Given the description of an element on the screen output the (x, y) to click on. 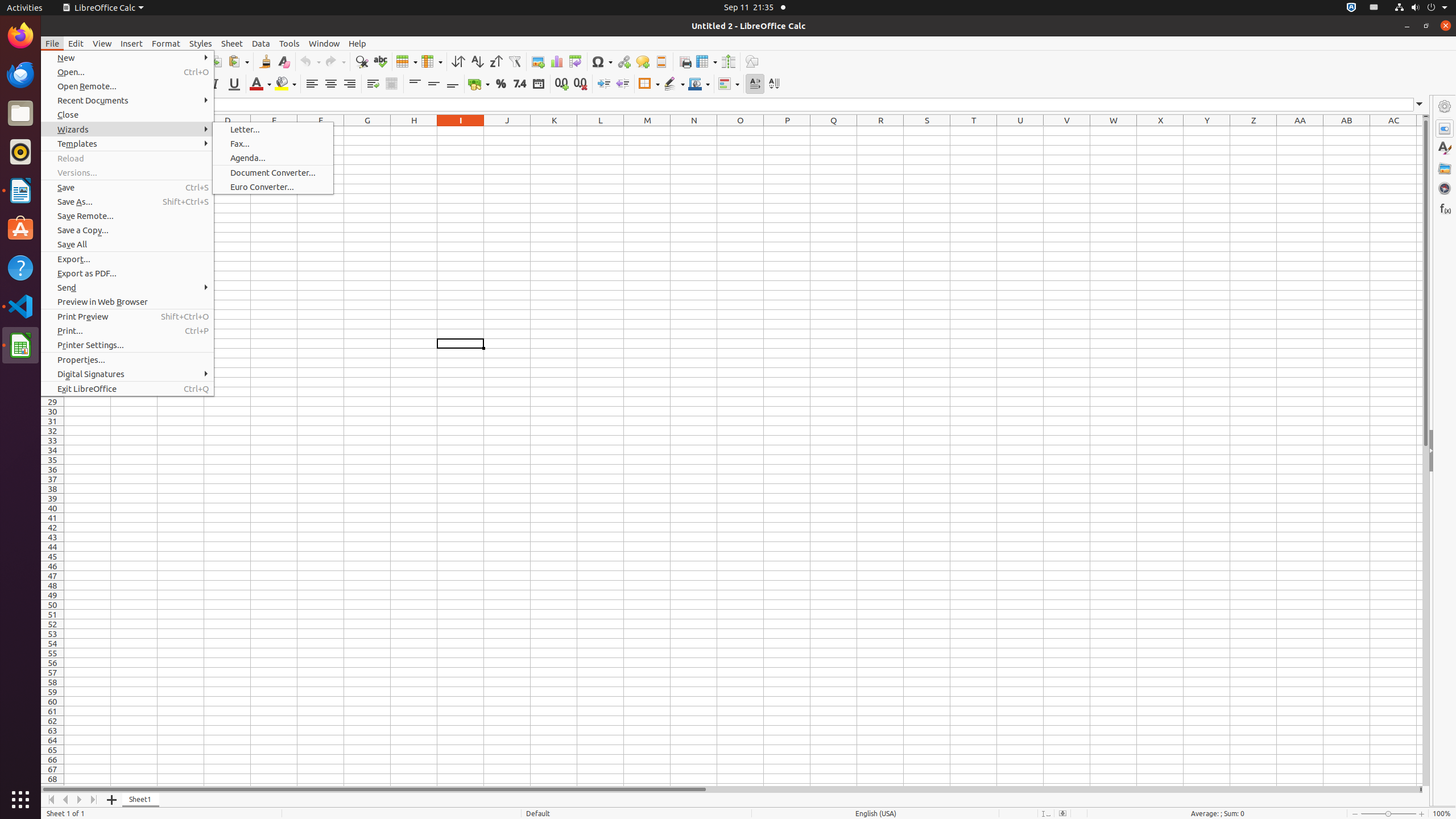
Open... Element type: menu-item (126, 71)
Date Element type: push-button (537, 83)
Hyperlink Element type: toggle-button (623, 61)
Properties... Element type: menu-item (126, 359)
Draw Functions Element type: toggle-button (751, 61)
